Given the description of an element on the screen output the (x, y) to click on. 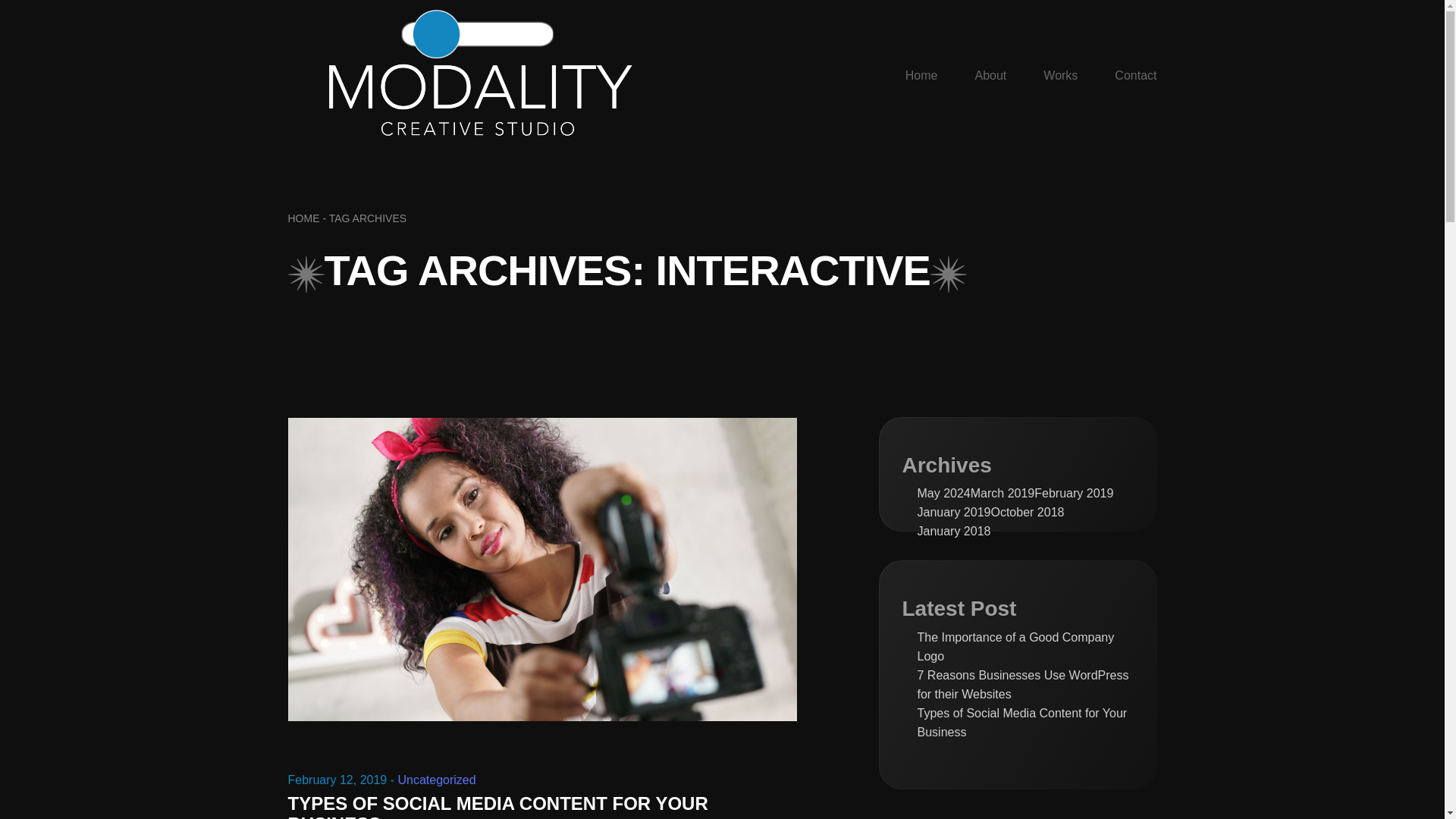
TYPES OF SOCIAL MEDIA CONTENT FOR YOUR BUSINESS (497, 806)
Types of Social Media Content for Your Business (1025, 722)
The Importance of a Good Company Logo (1025, 646)
HOME - (308, 218)
October 2018 (1027, 511)
March 2019 (1003, 493)
7 Reasons Businesses Use WordPress for their Websites (1025, 684)
January 2019 (954, 511)
May 2024 (944, 493)
Uncategorized (436, 779)
January 2018 (954, 530)
February 2019 (1073, 493)
